Given the description of an element on the screen output the (x, y) to click on. 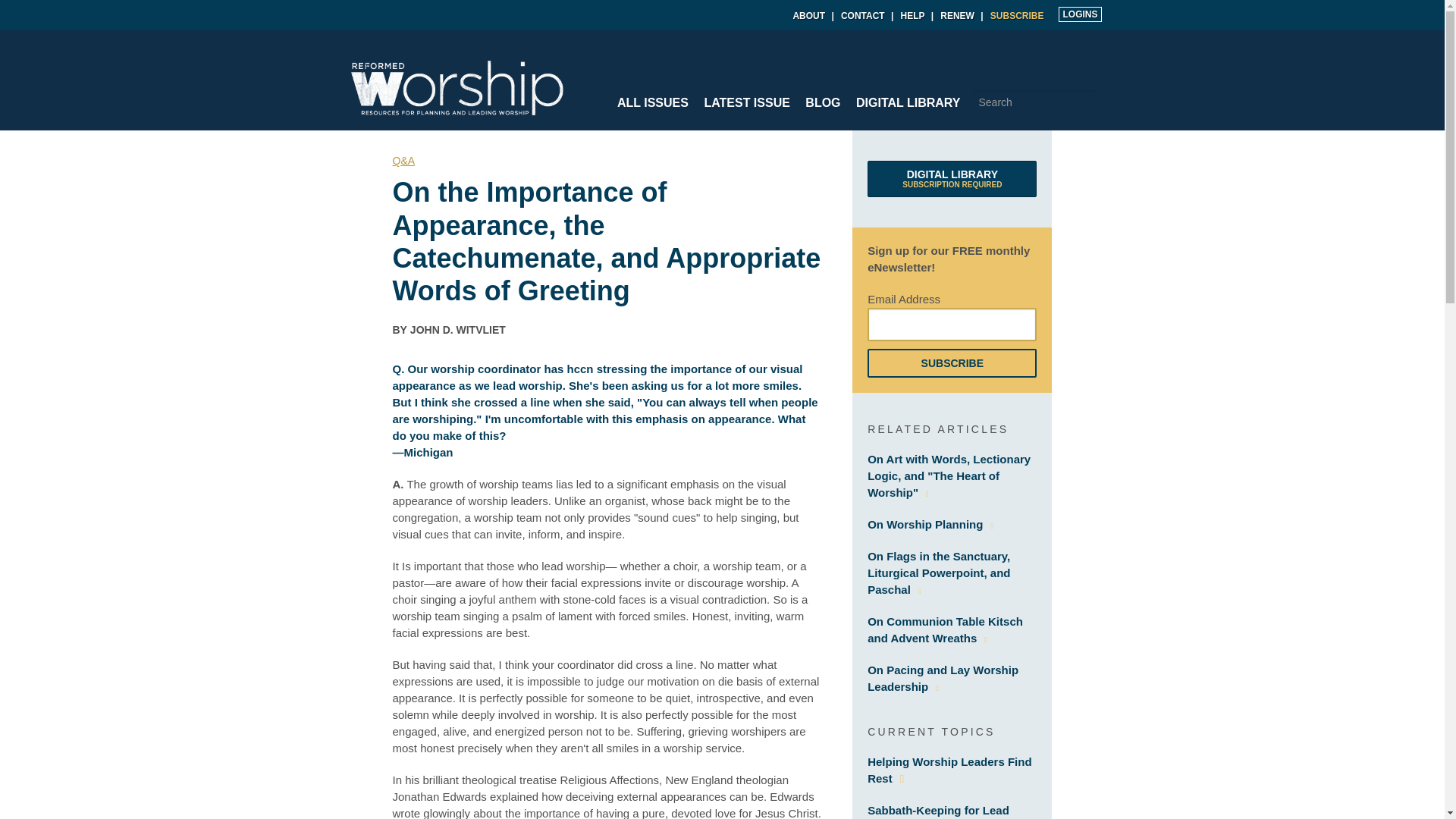
Subscribe (951, 362)
BLOG (822, 102)
LATEST ISSUE (746, 102)
Search (1082, 101)
ABOUT (808, 15)
LOGINS (951, 178)
SUBSCRIBE (1079, 14)
Helping Worship Leaders Find Rest (1016, 15)
